Given the description of an element on the screen output the (x, y) to click on. 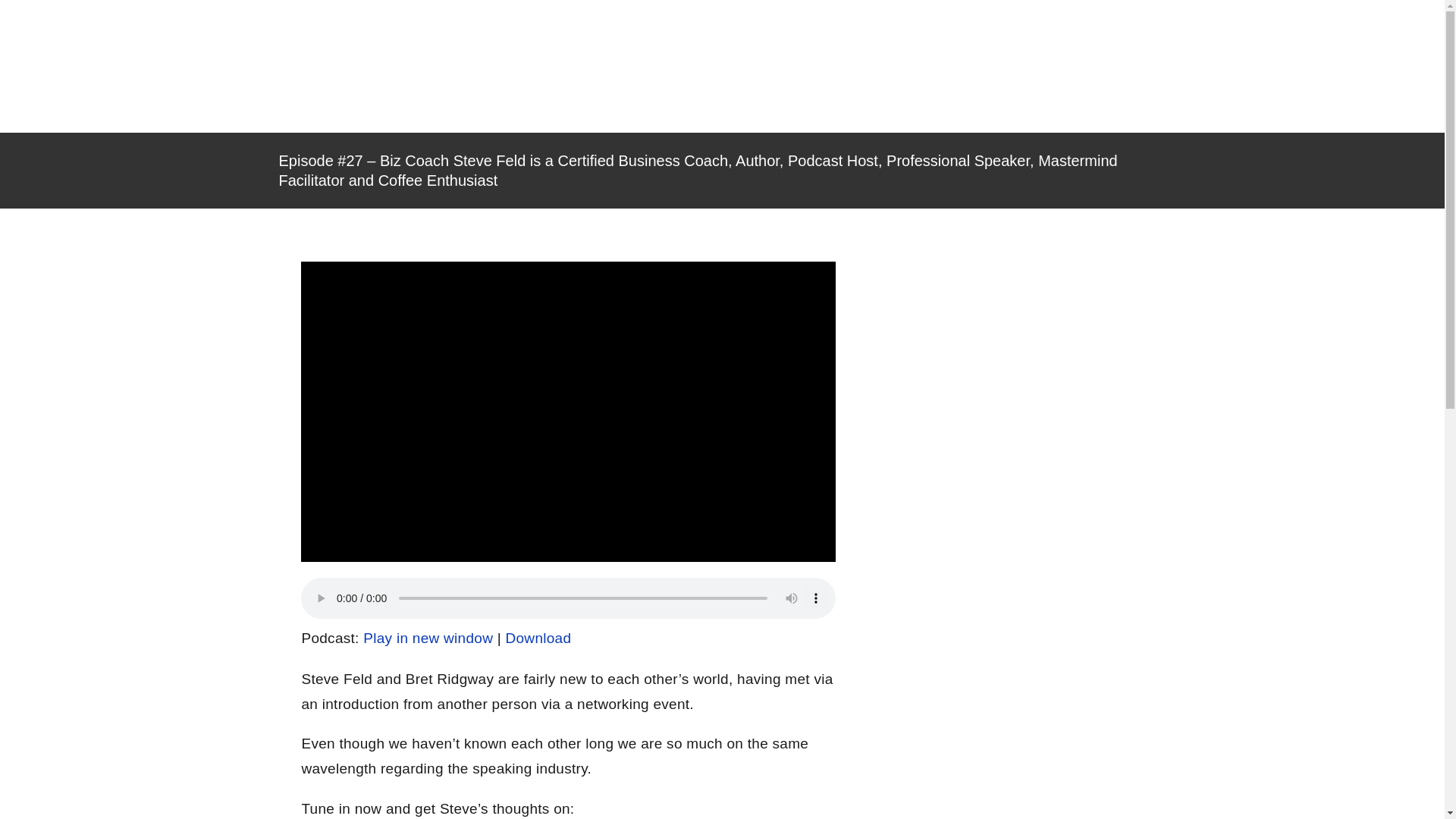
Download (538, 637)
Download (538, 637)
Play in new window (427, 637)
Play in new window (427, 637)
